Given the description of an element on the screen output the (x, y) to click on. 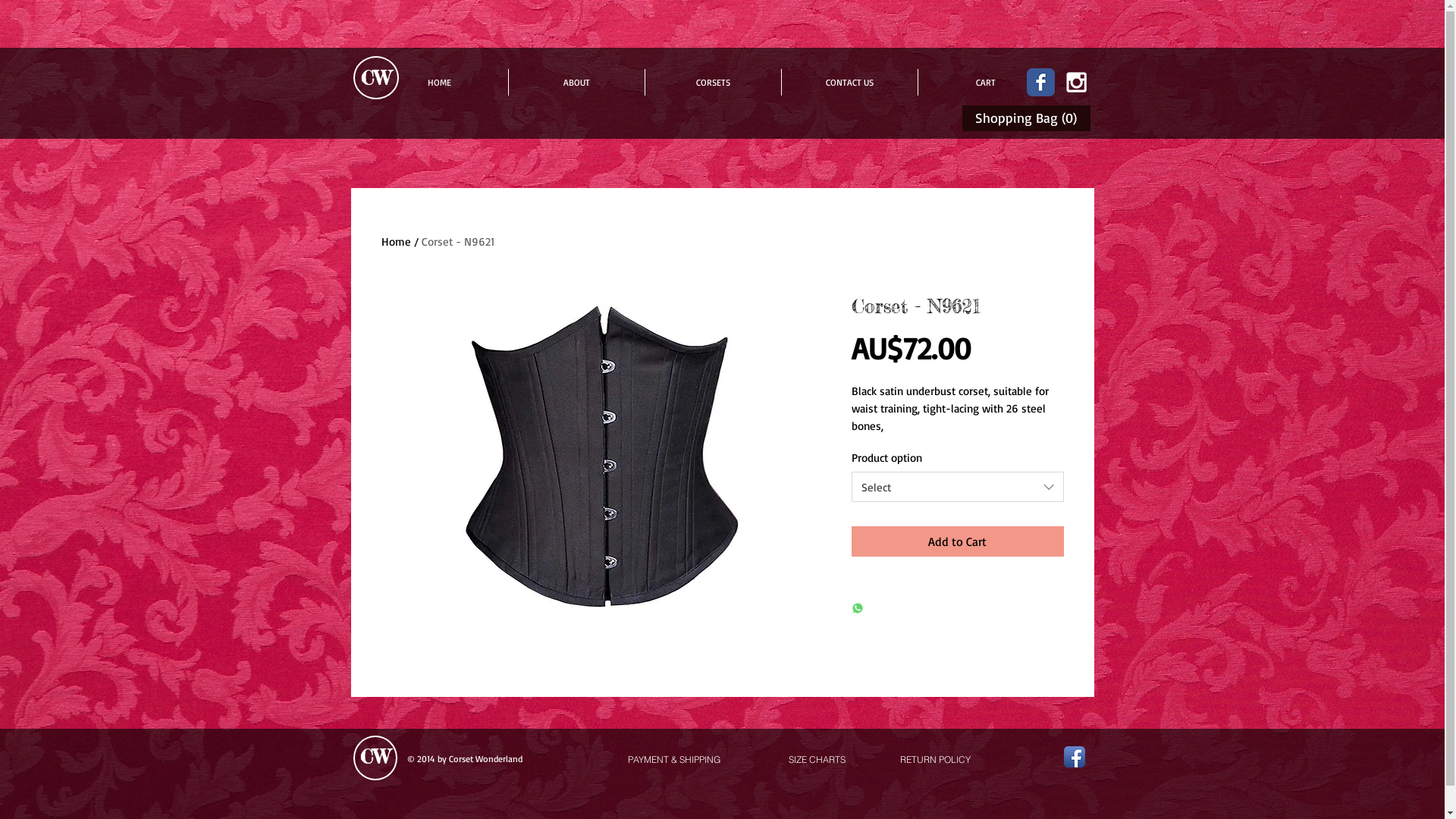
Home Element type: text (395, 241)
Add to Cart Element type: text (956, 541)
CONTACT US Element type: text (848, 82)
RETURN POLICY Element type: text (934, 759)
Shopping Bag (0) Element type: text (1028, 117)
CW Element type: text (374, 756)
ABOUT Element type: text (575, 82)
SIZE CHARTS Element type: text (816, 759)
Corset - N9621 Element type: text (457, 241)
Select Element type: text (956, 486)
HOME Element type: text (438, 82)
CART Element type: text (985, 82)
CORSETS Element type: text (712, 82)
PAYMENT & SHIPPING Element type: text (673, 759)
